Given the description of an element on the screen output the (x, y) to click on. 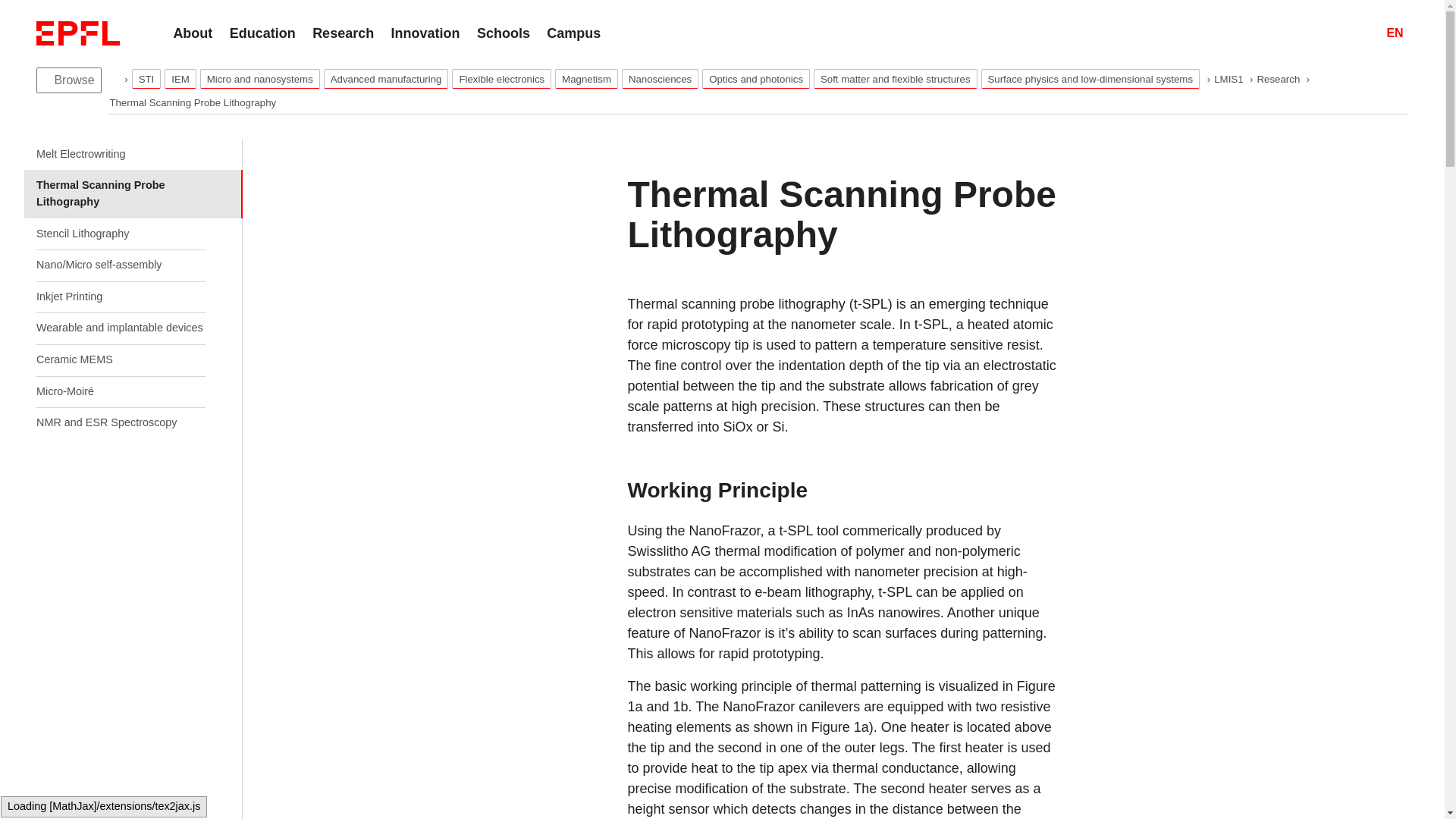
Schools (503, 33)
STI (146, 78)
Optics and photonics (755, 78)
Advanced manufacturing (385, 78)
Nanosciences (659, 78)
Campus (573, 33)
Education (262, 33)
Magnetism (585, 78)
LMIS1 (1230, 79)
Research (1280, 79)
IEM (180, 78)
Research (1280, 79)
Innovation (424, 33)
Flexible electronics (501, 78)
LMIS1 (1230, 79)
